Given the description of an element on the screen output the (x, y) to click on. 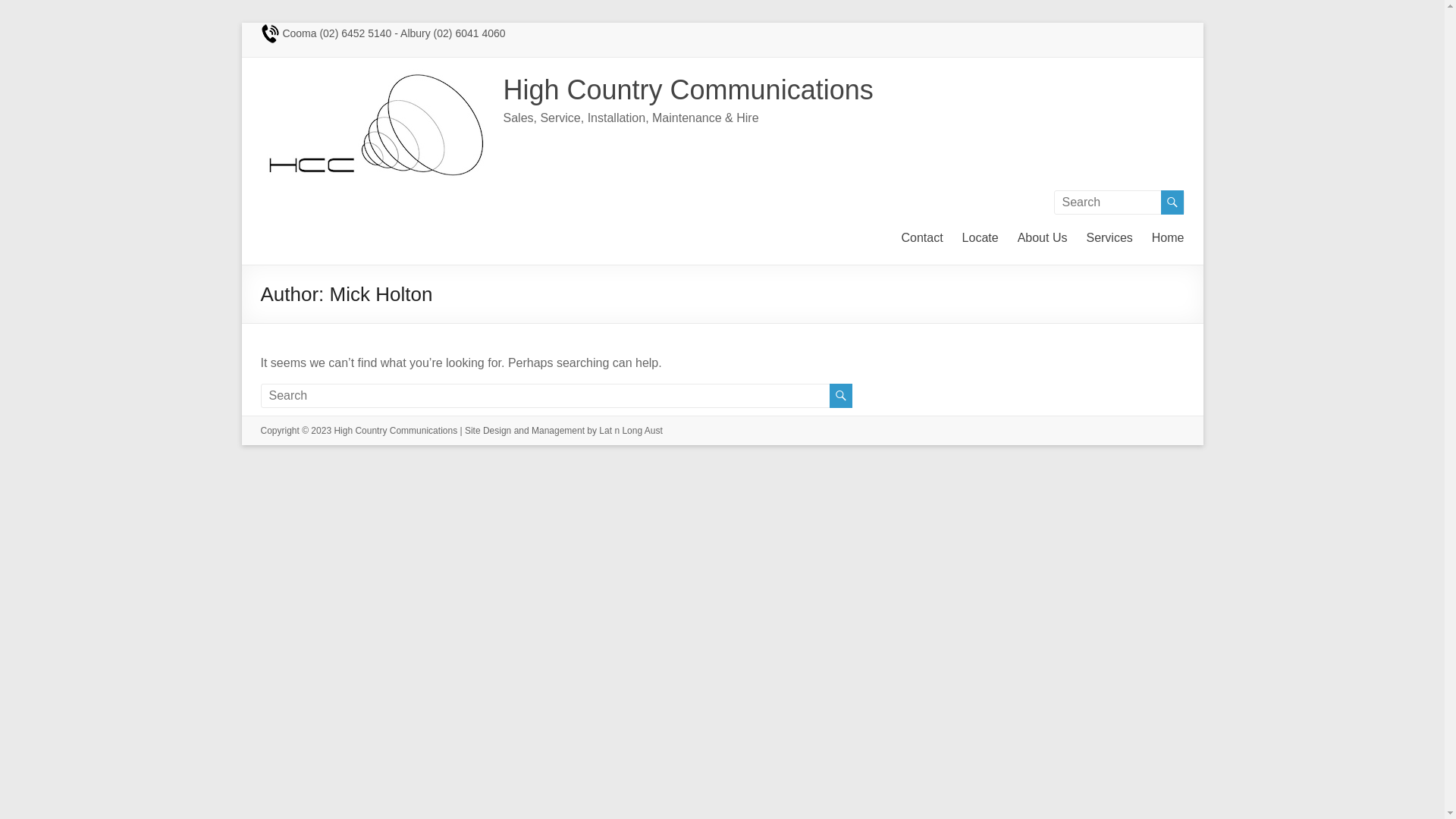
About Us Element type: text (1042, 235)
Services Element type: text (1108, 235)
High Country Communications Element type: text (395, 430)
Home Element type: text (1167, 235)
Search Element type: text (38, 11)
High Country Communications Element type: text (688, 89)
Contact Element type: text (921, 235)
Locate Element type: text (980, 235)
High Country Communications Element type: hover (374, 75)
